Given the description of an element on the screen output the (x, y) to click on. 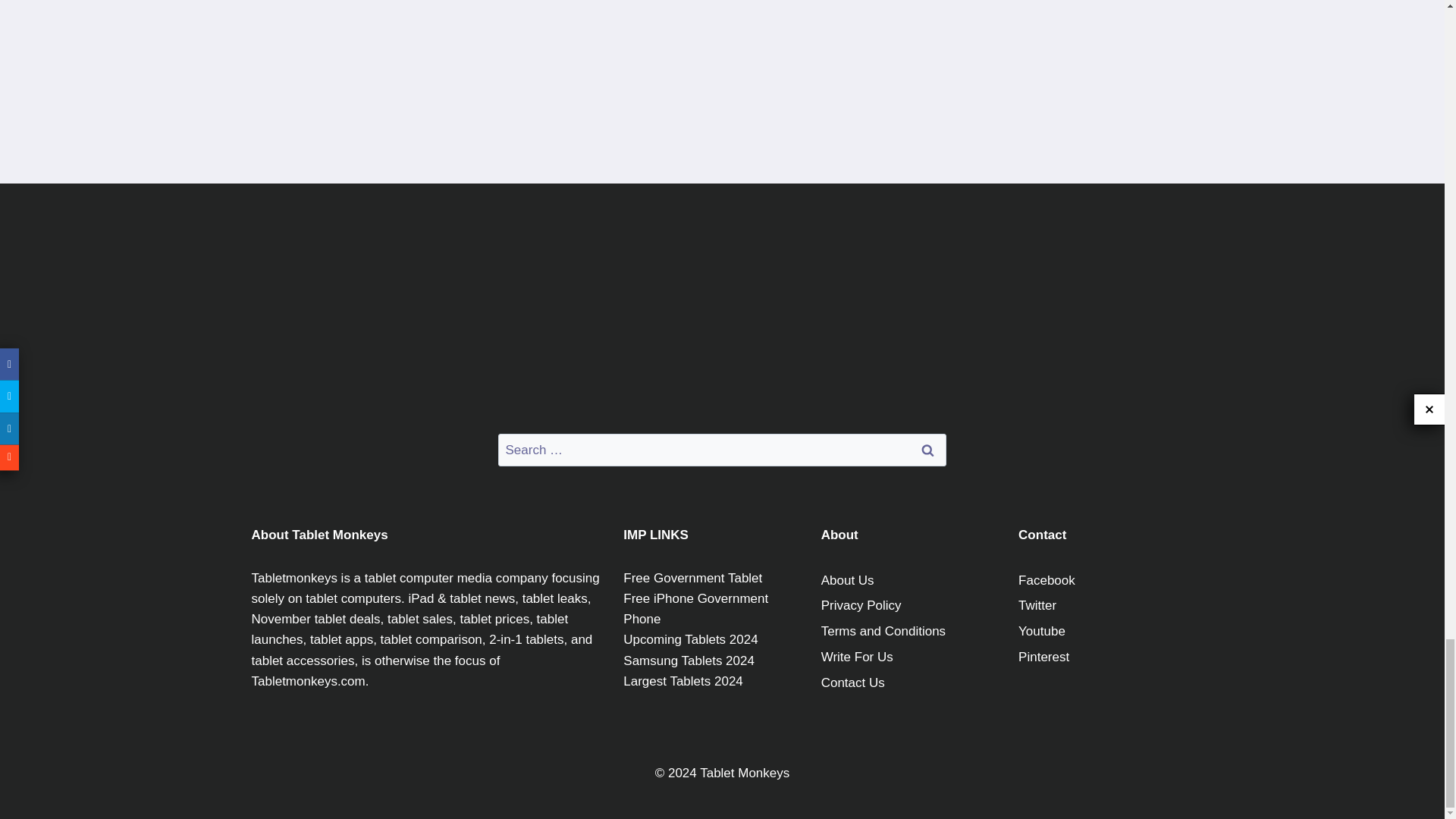
Search (927, 450)
Search (927, 450)
